Given the description of an element on the screen output the (x, y) to click on. 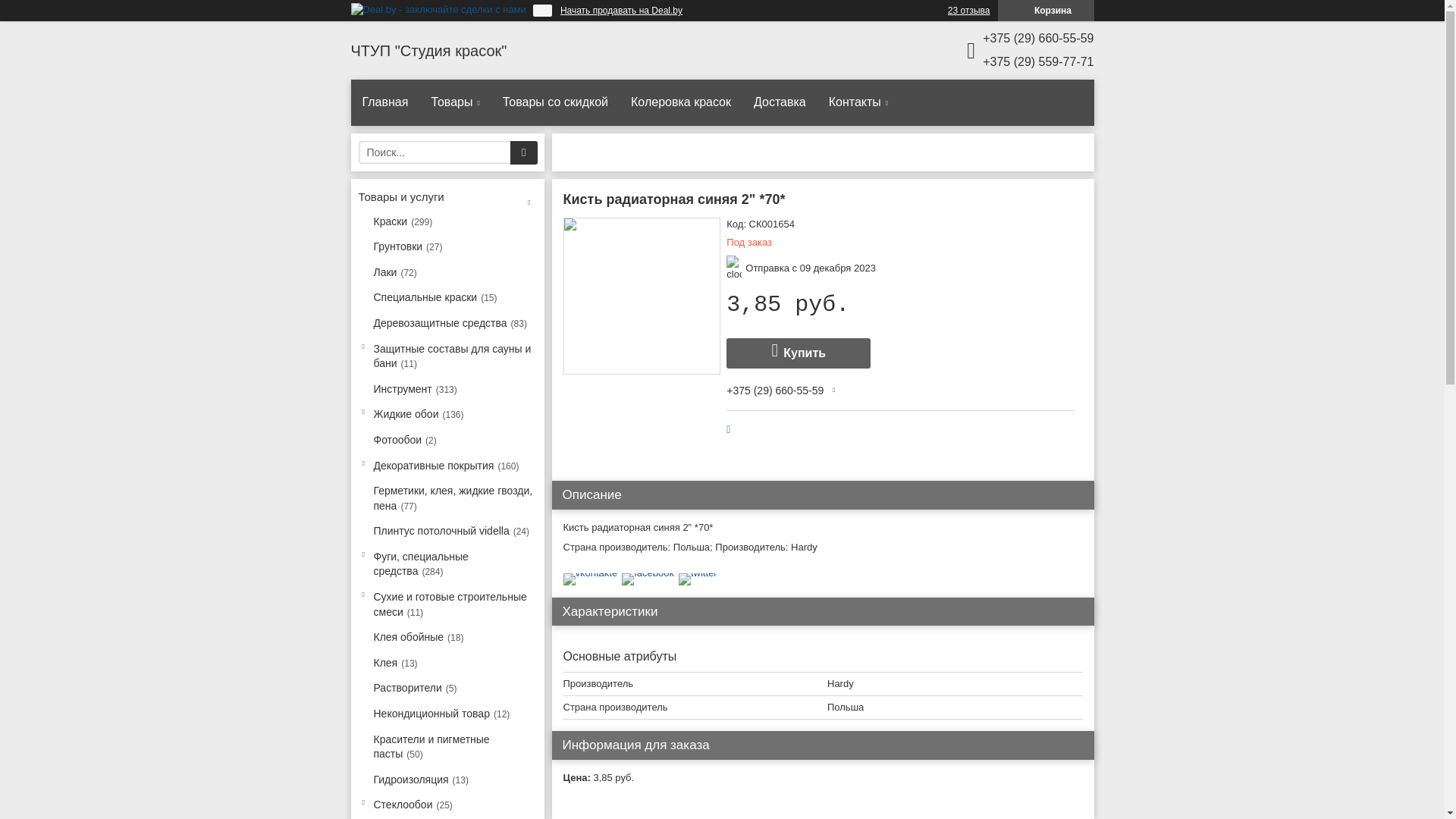
twitter Element type: hover (697, 572)
facebook Element type: hover (647, 572)
